Given the description of an element on the screen output the (x, y) to click on. 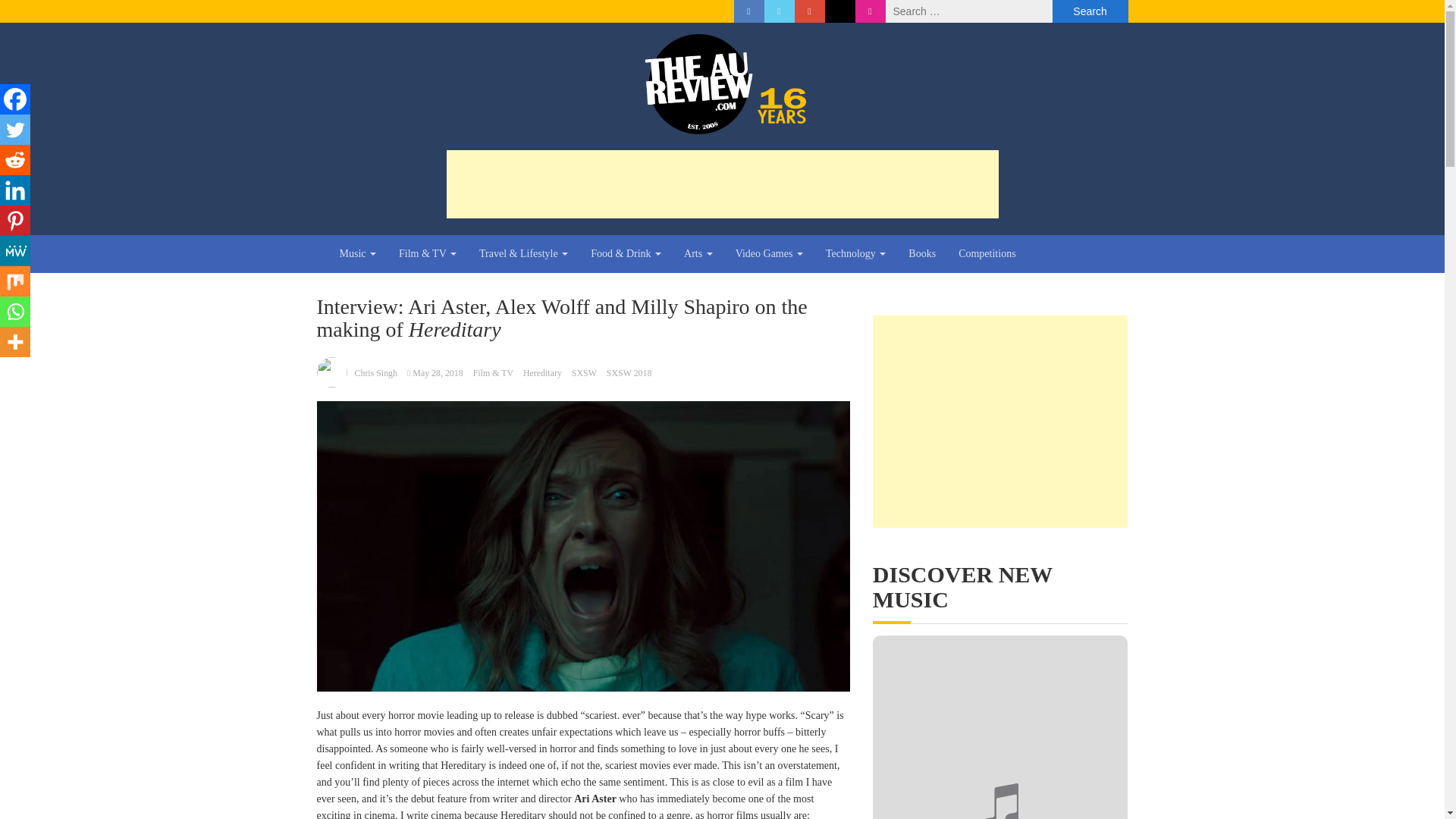
Search (1090, 11)
Search (1090, 11)
Music (357, 253)
Advertisement (721, 183)
Music (357, 253)
Search (1090, 11)
